Given the description of an element on the screen output the (x, y) to click on. 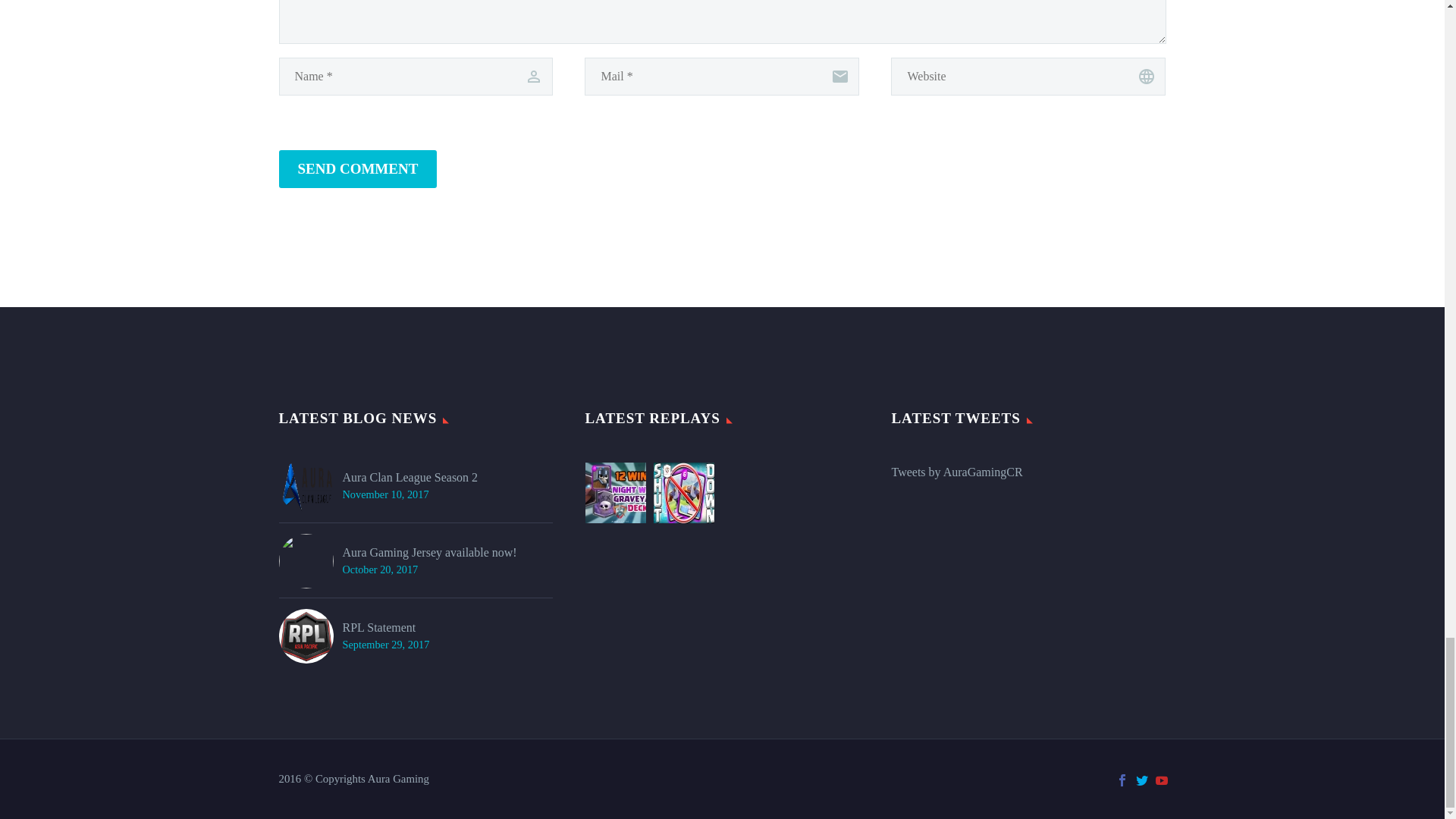
Aura Gaming Jersey available now! (429, 551)
SEND COMMENT (358, 168)
RPL Statement (385, 627)
facebook (1122, 779)
twitter (1141, 779)
Aura Clan League Season 2 (410, 476)
